Given the description of an element on the screen output the (x, y) to click on. 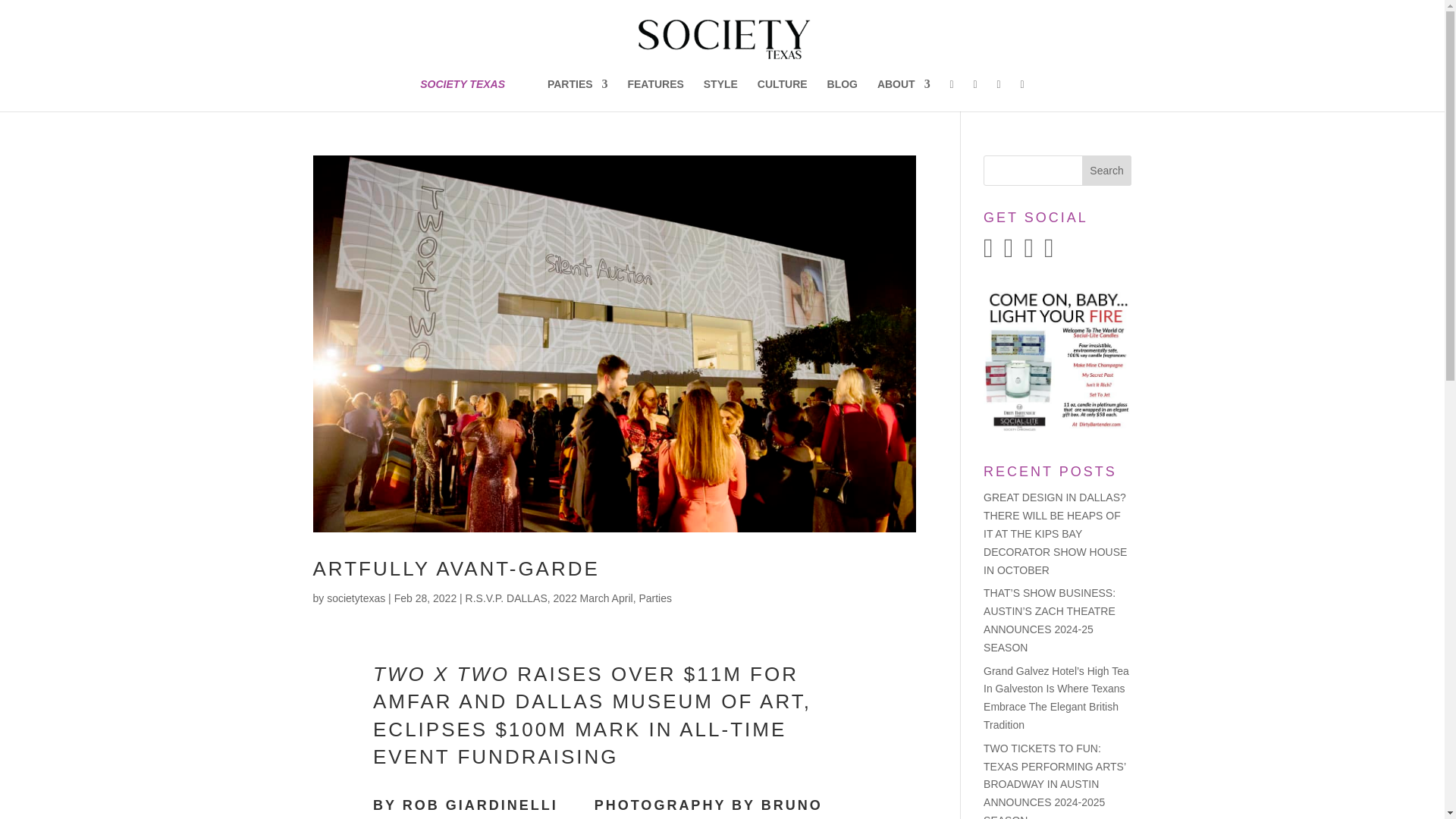
BLOG (842, 94)
Posts by societytexas (355, 598)
ARTFULLY AVANT-GARDE (455, 568)
STYLE (720, 94)
societytexas (355, 598)
Search (1106, 170)
PARTIES (577, 94)
CULTURE (782, 94)
ABOUT (903, 94)
FEATURES (654, 94)
